Given the description of an element on the screen output the (x, y) to click on. 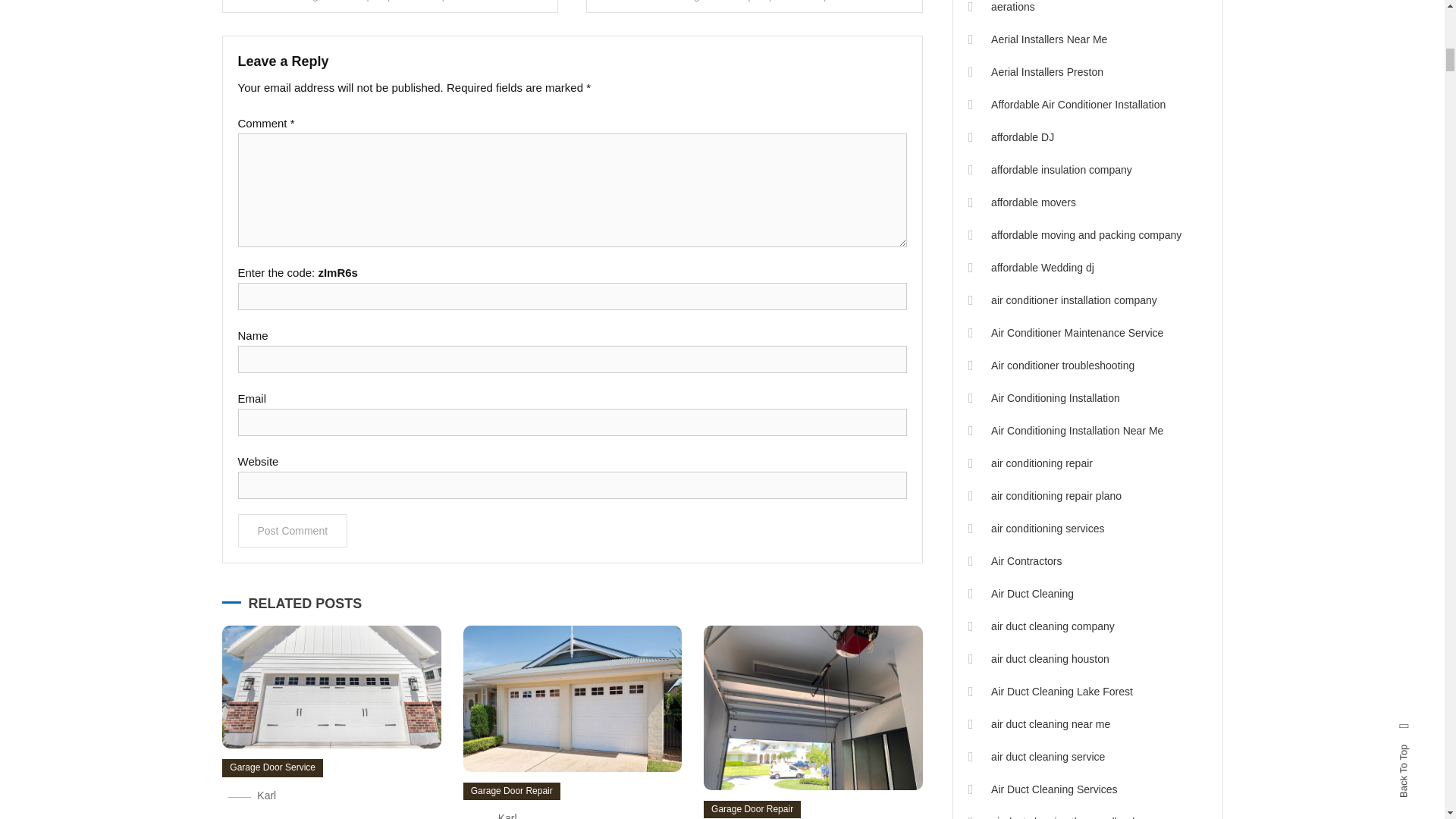
Post Comment (292, 530)
